Given the description of an element on the screen output the (x, y) to click on. 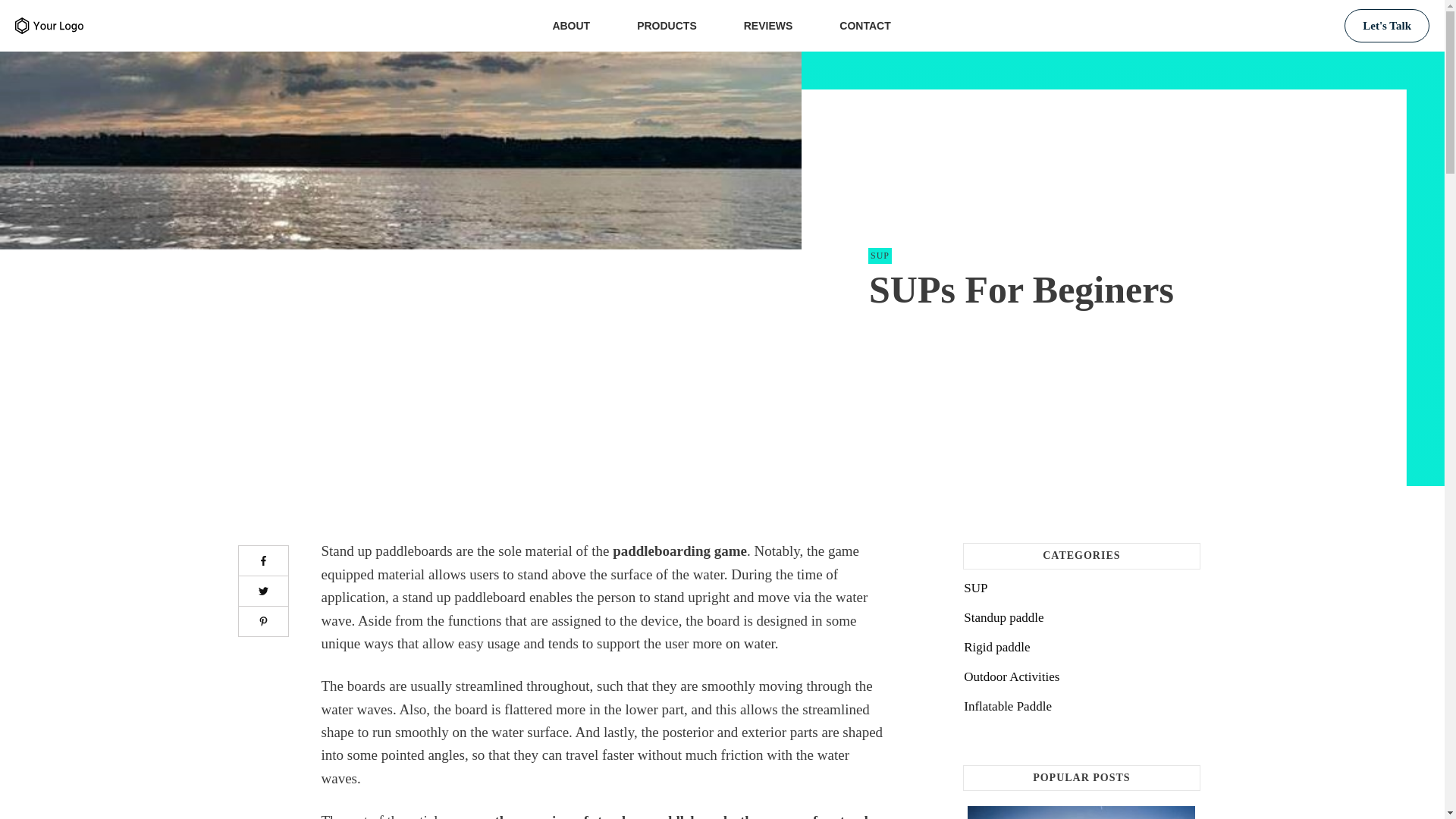
CONTACT (864, 25)
PRODUCTS (667, 25)
REVIEWS (768, 25)
Let'S Talk (1386, 25)
SUP (975, 588)
Rigid paddle (996, 647)
SUP (879, 255)
Standup paddle (1003, 617)
Outdoor Activities (1011, 676)
Inflatable Paddle (1007, 706)
